Given the description of an element on the screen output the (x, y) to click on. 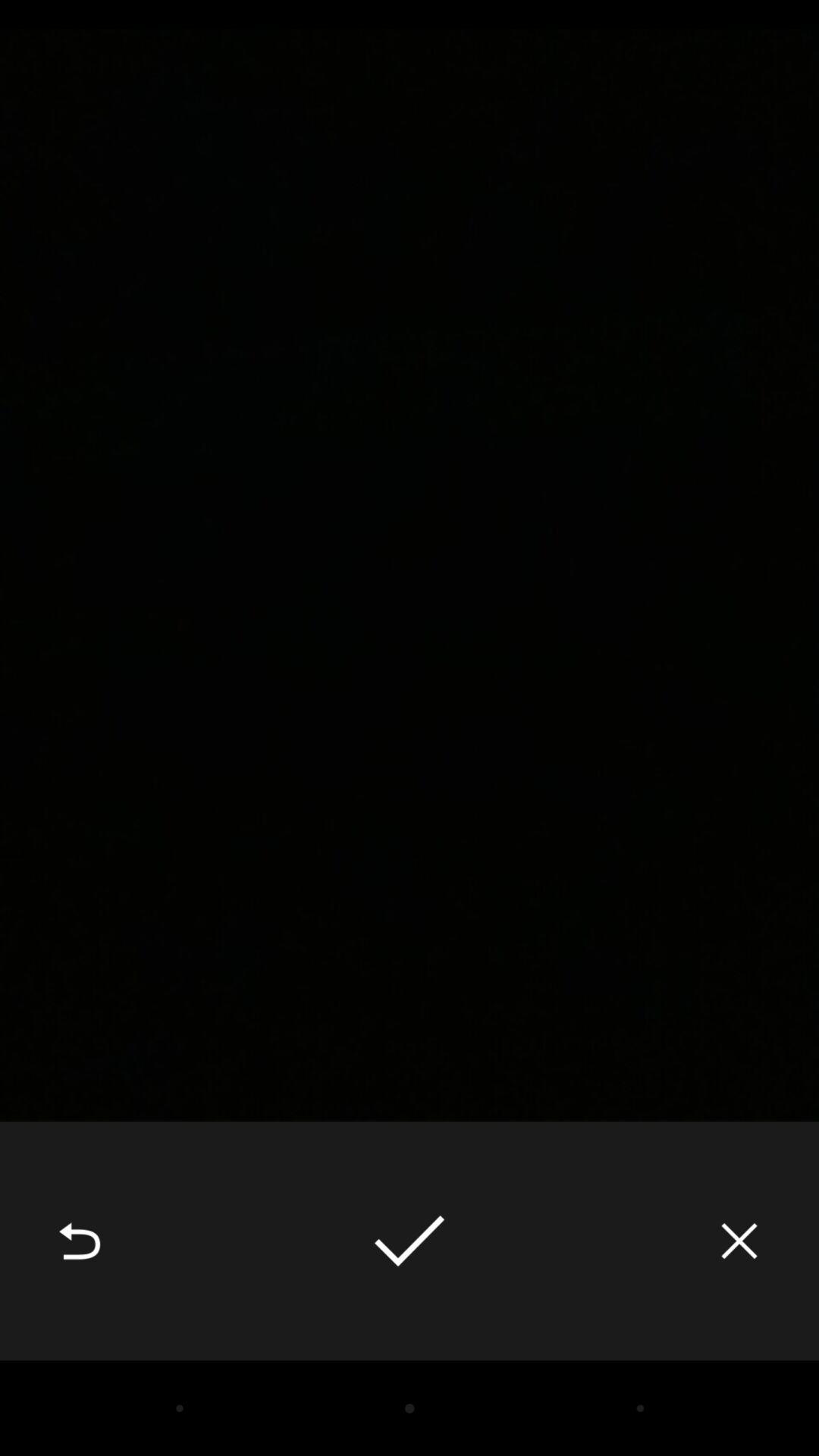
turn on the icon at the bottom right corner (739, 1240)
